Given the description of an element on the screen output the (x, y) to click on. 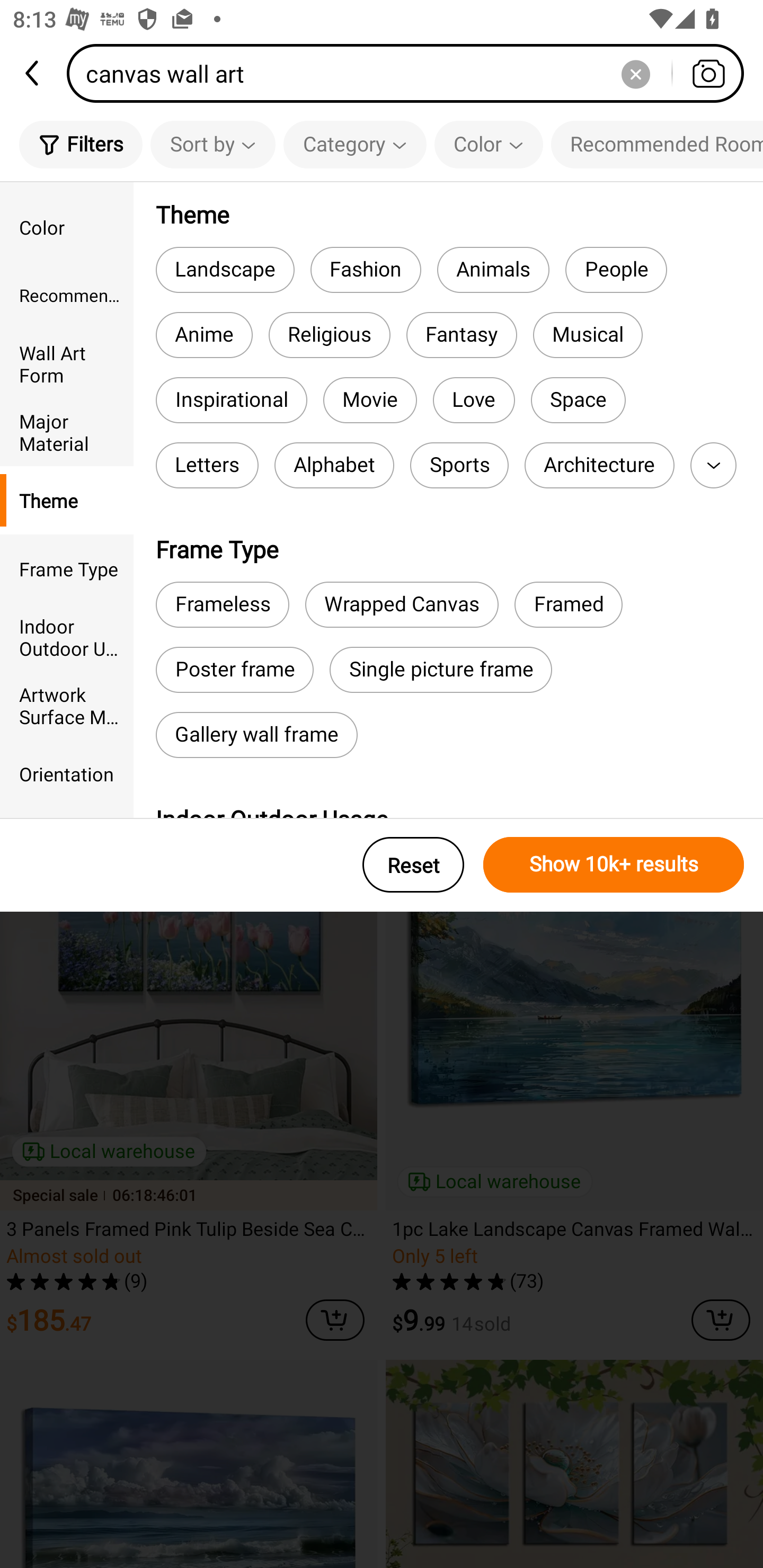
back (33, 72)
canvas wall art (411, 73)
Delete search history (635, 73)
Search by photo (708, 73)
Filters (80, 143)
Sort by (212, 143)
Category (354, 143)
Color (488, 143)
Recommended Room (656, 143)
Color (66, 226)
Landscape (224, 269)
Fashion (365, 269)
Animals (493, 269)
People (615, 269)
Recommended Room (66, 295)
Anime (203, 334)
Religious (329, 334)
Fantasy (461, 334)
Musical (587, 334)
Wall Art Form (66, 363)
Inspirational (231, 400)
Movie (370, 400)
Love (473, 400)
Space (578, 400)
Major Material (66, 431)
Letters (206, 464)
Alphabet (334, 464)
Sports (459, 464)
Architecture (599, 464)
More (713, 464)
Theme (66, 499)
Frame Type (66, 568)
Frameless (222, 604)
Wrapped Canvas (401, 604)
Framed (568, 604)
Indoor Outdoor Usage (66, 636)
Poster frame (234, 669)
Single picture frame (440, 669)
Artwork Surface Material (66, 705)
Gallery wall frame (256, 734)
Orientation (66, 773)
Reset (412, 864)
Show 10k+ results (612, 864)
